Given the description of an element on the screen output the (x, y) to click on. 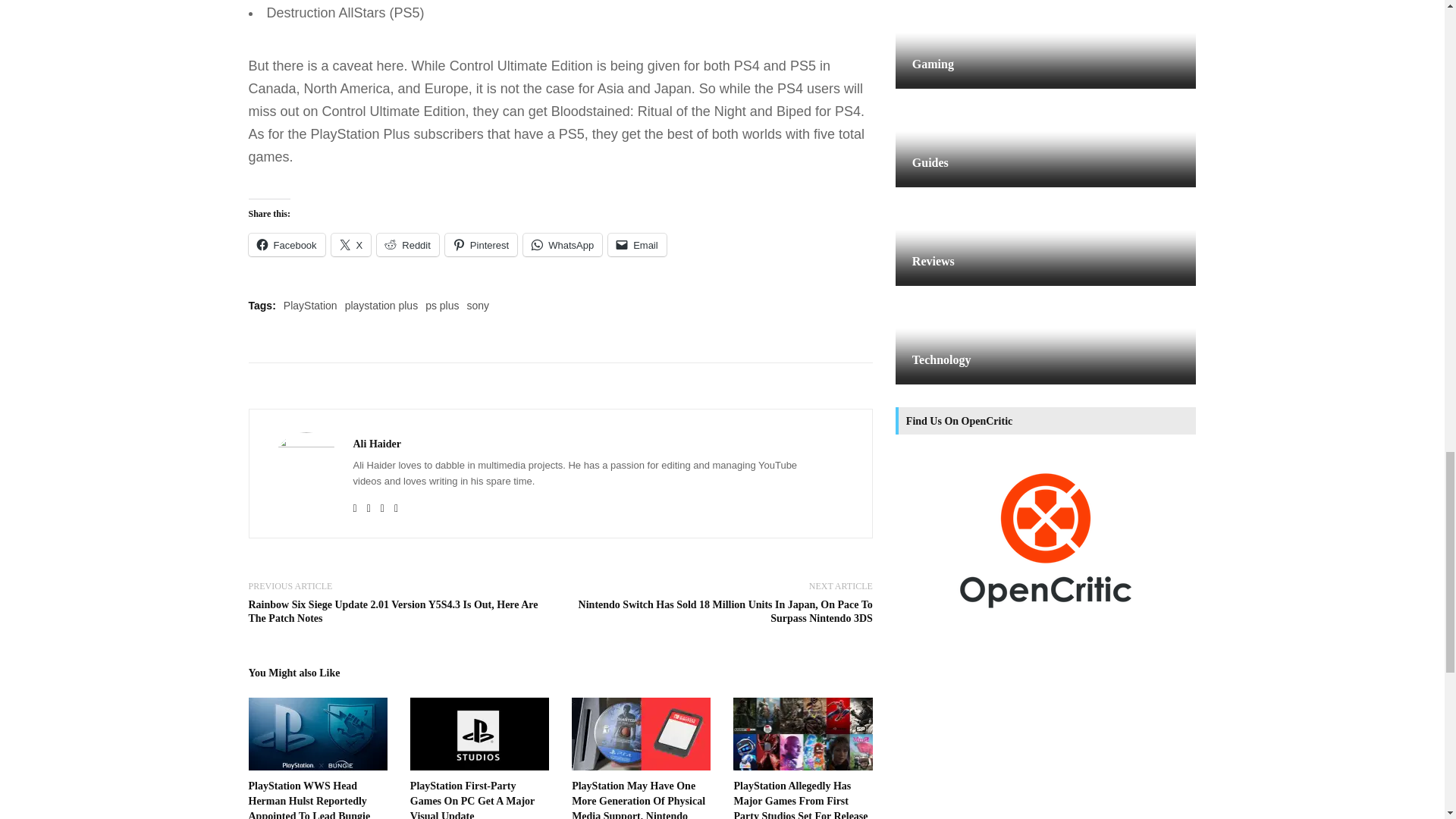
Click to share on Reddit (408, 244)
Facebook (286, 244)
Email (637, 244)
Pinterest (480, 244)
PlayStation (310, 305)
ps plus (441, 305)
WhatsApp (562, 244)
Click to email a link to a friend (637, 244)
playstation plus (382, 305)
Reddit (408, 244)
